Given the description of an element on the screen output the (x, y) to click on. 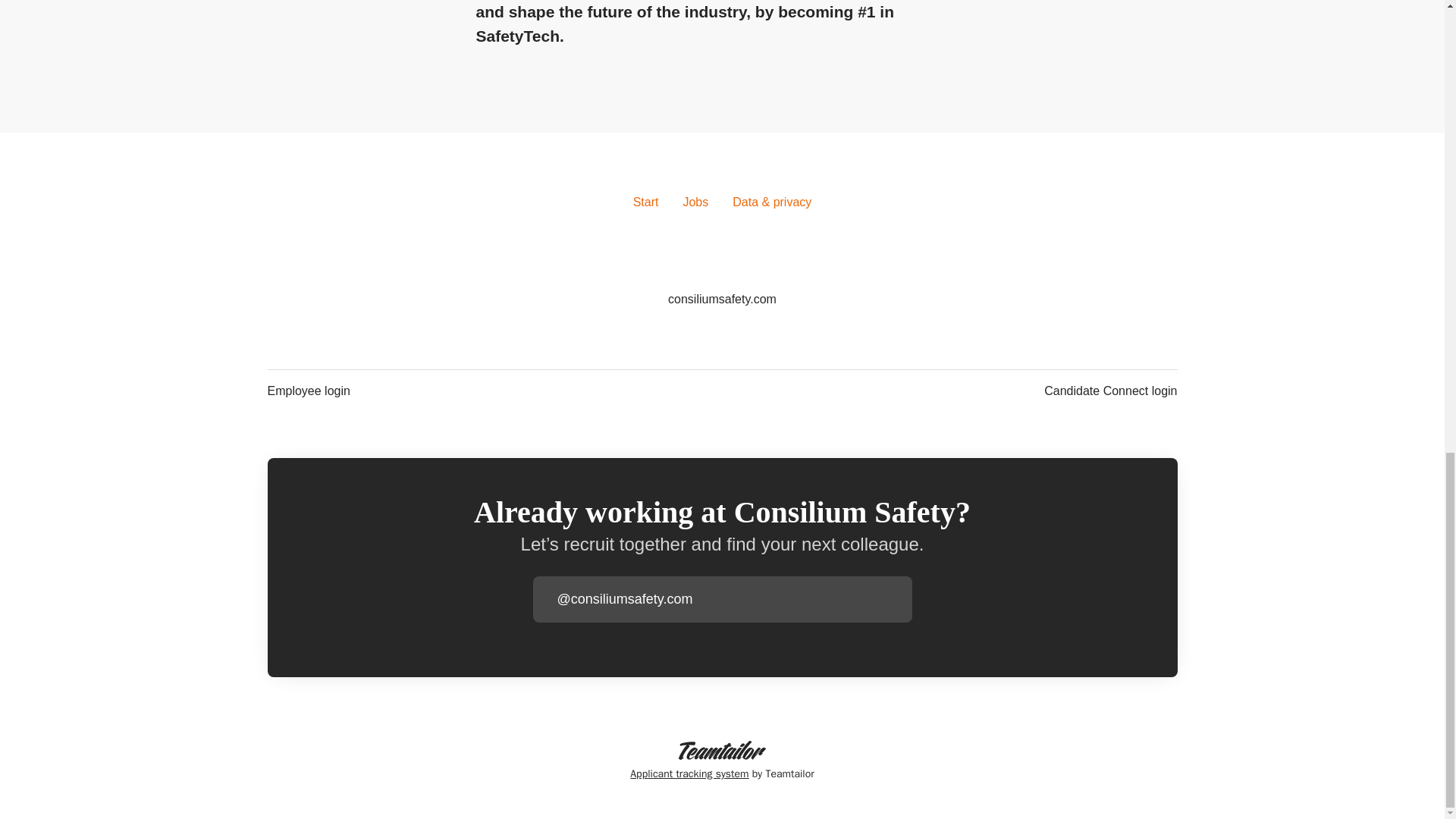
Applicant tracking system by Teamtailor (721, 760)
Candidate Connect login (1109, 391)
Jobs (694, 202)
consiliumsafety.com (722, 299)
Start (646, 202)
Log in (899, 598)
Employee login (307, 391)
